Given the description of an element on the screen output the (x, y) to click on. 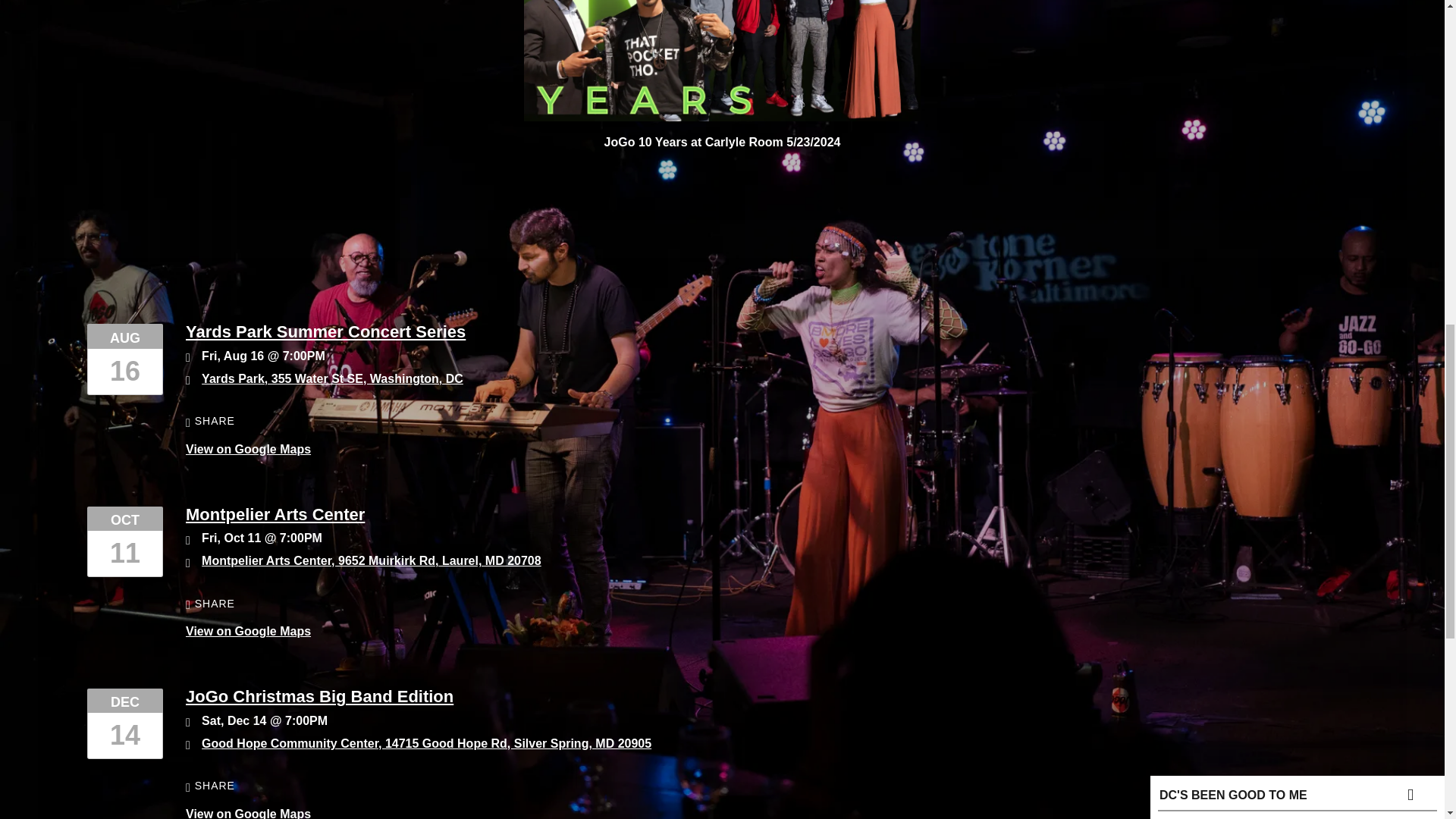
Yards Park, 355 Water St SE, Washington, DC (332, 378)
SHARE (210, 786)
Yards Park Summer Concert Series (325, 331)
DC's Been Good To Me (1240, 347)
Montpelier Arts Center (275, 514)
View on Google Maps (248, 449)
View on Google Maps (332, 378)
JoGo Christmas Big Band Edition (319, 696)
Montpelier Arts Center, 9652 Muirkirk Rd, Laurel, MD 20708 (371, 560)
SHARE (210, 604)
